Given the description of an element on the screen output the (x, y) to click on. 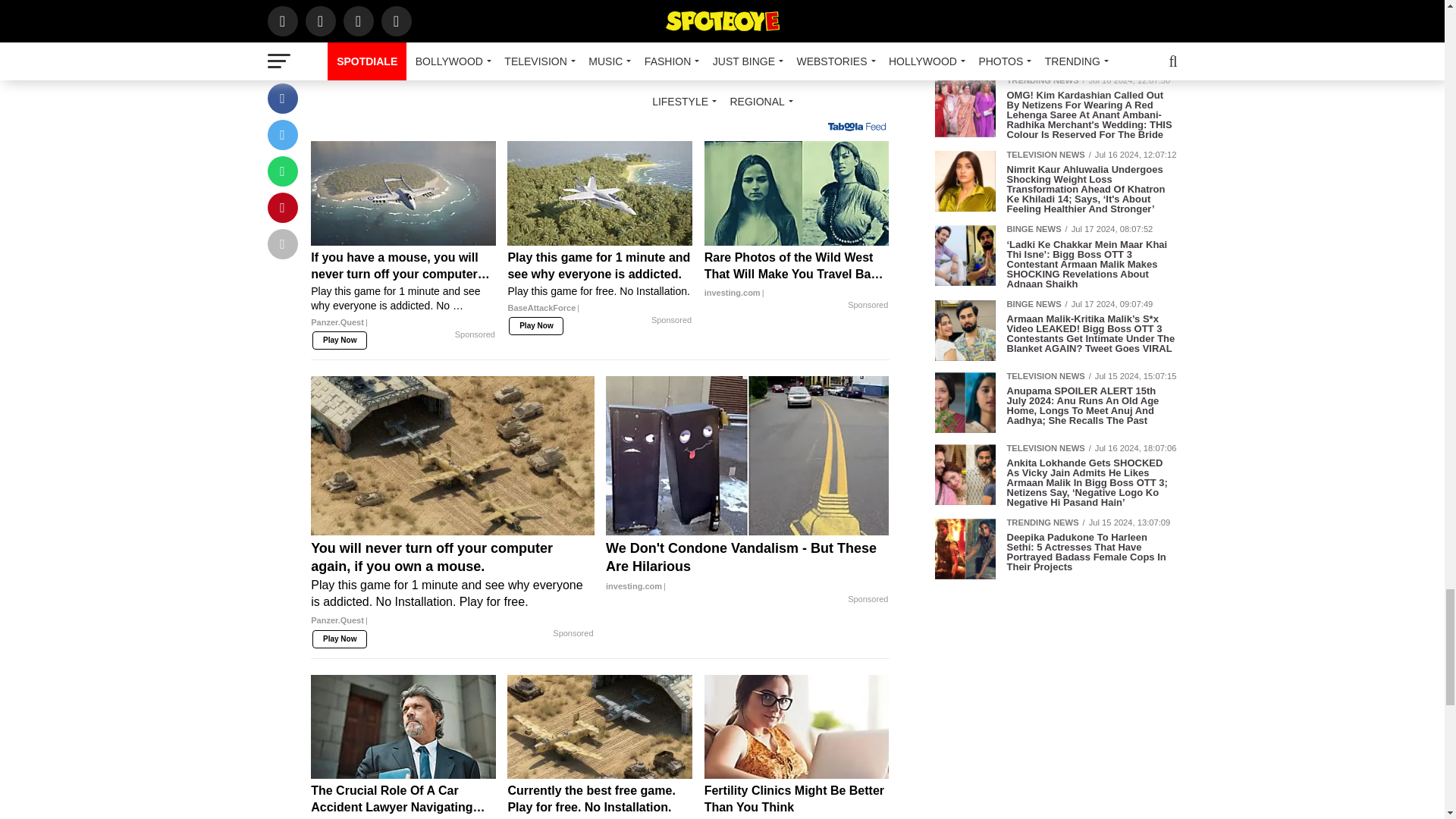
We Don't Condone Vandalism - But These Are Hilarious (746, 566)
